Given the description of an element on the screen output the (x, y) to click on. 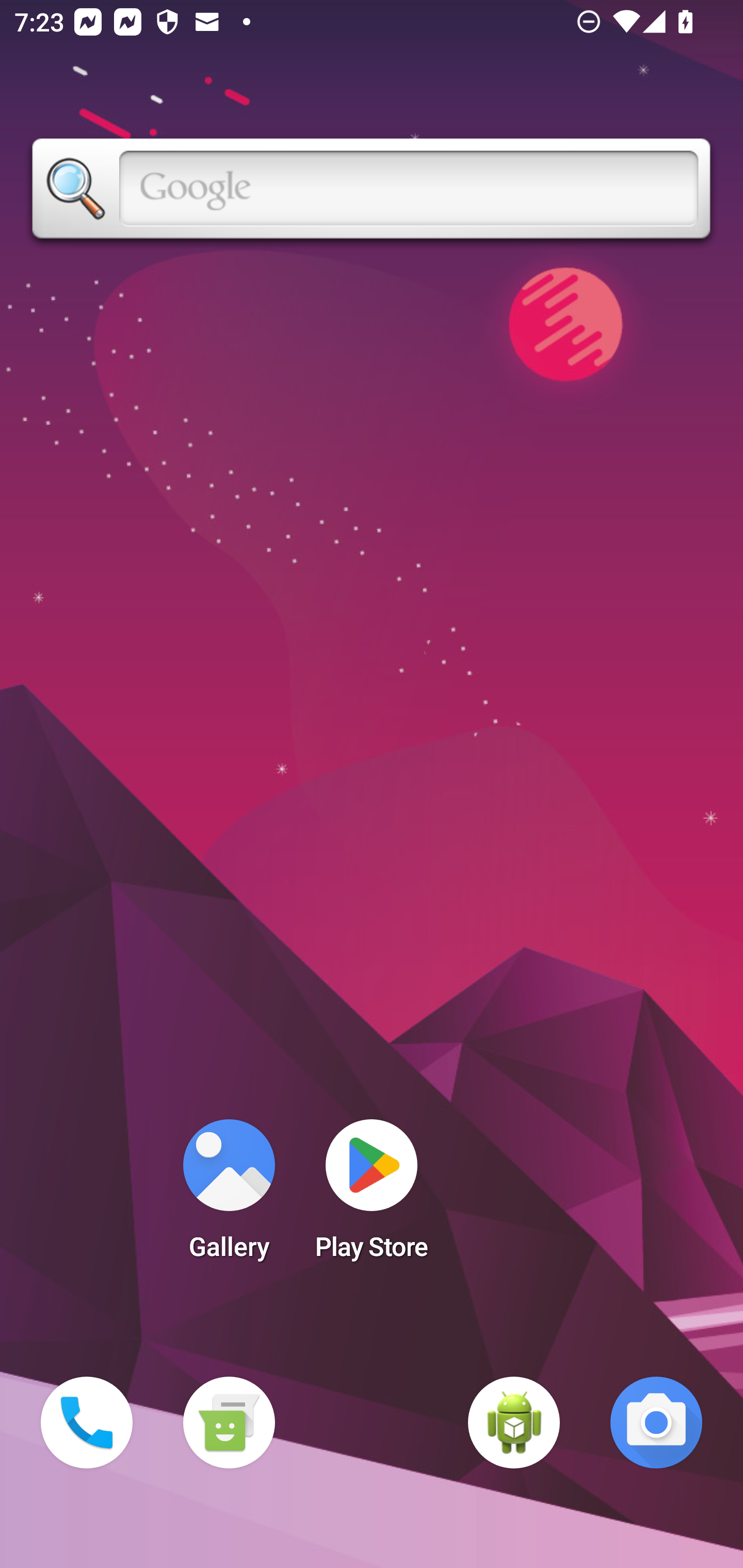
Gallery (228, 1195)
Play Store (371, 1195)
Phone (86, 1422)
Messaging (228, 1422)
WebView Browser Tester (513, 1422)
Camera (656, 1422)
